Given the description of an element on the screen output the (x, y) to click on. 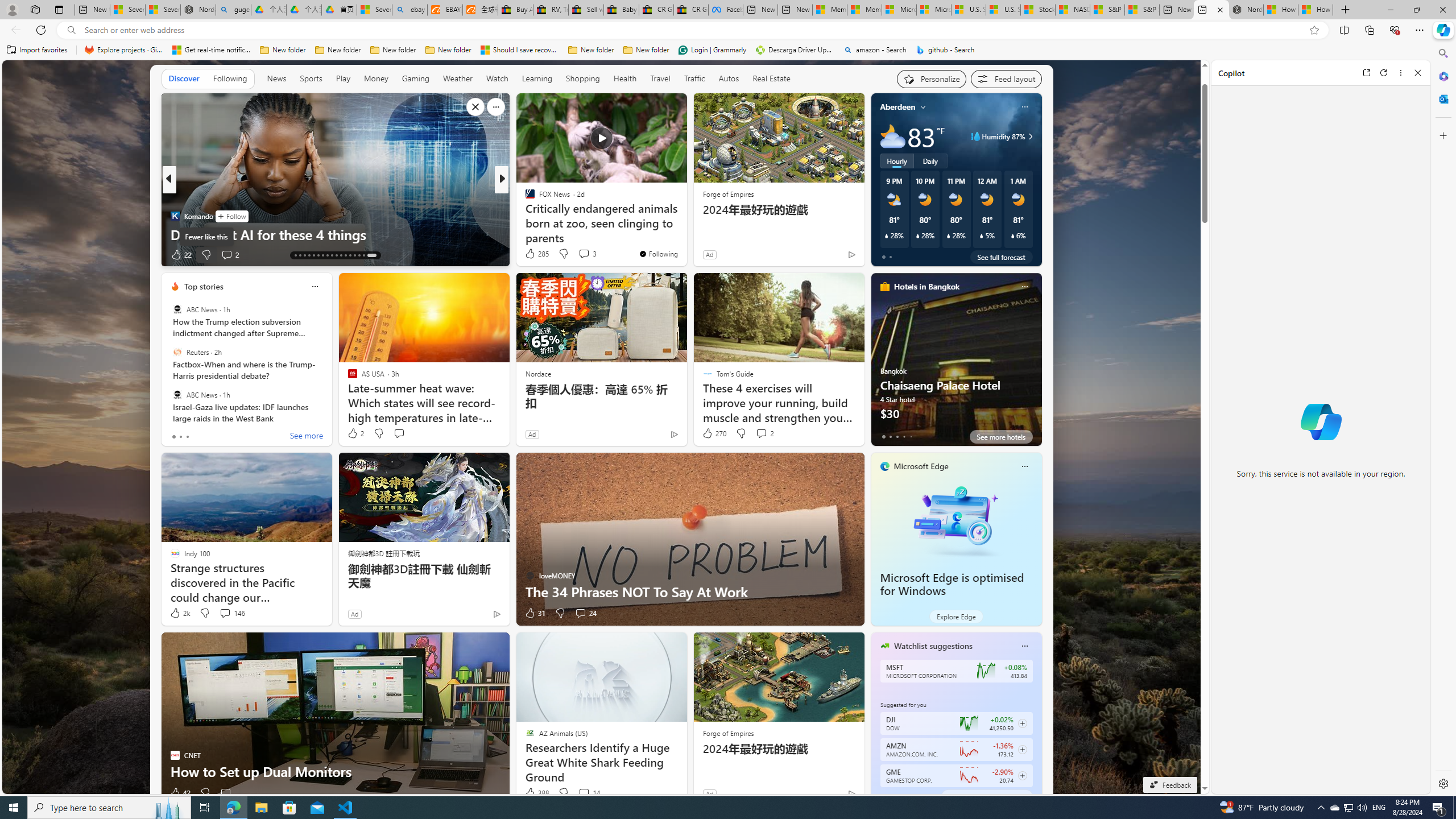
Sports (310, 78)
AutomationID: tab-14 (299, 255)
AutomationID: tab-42 (371, 255)
AutomationID: tab-23 (340, 255)
AutomationID: tab-16 (309, 255)
AutomationID: tab-39 (354, 255)
Mostly cloudy (892, 136)
Outlook (1442, 98)
Should I save recovered Word documents? - Microsoft Support (519, 49)
Travel (660, 78)
AutomationID: tab-25 (349, 255)
